Given the description of an element on the screen output the (x, y) to click on. 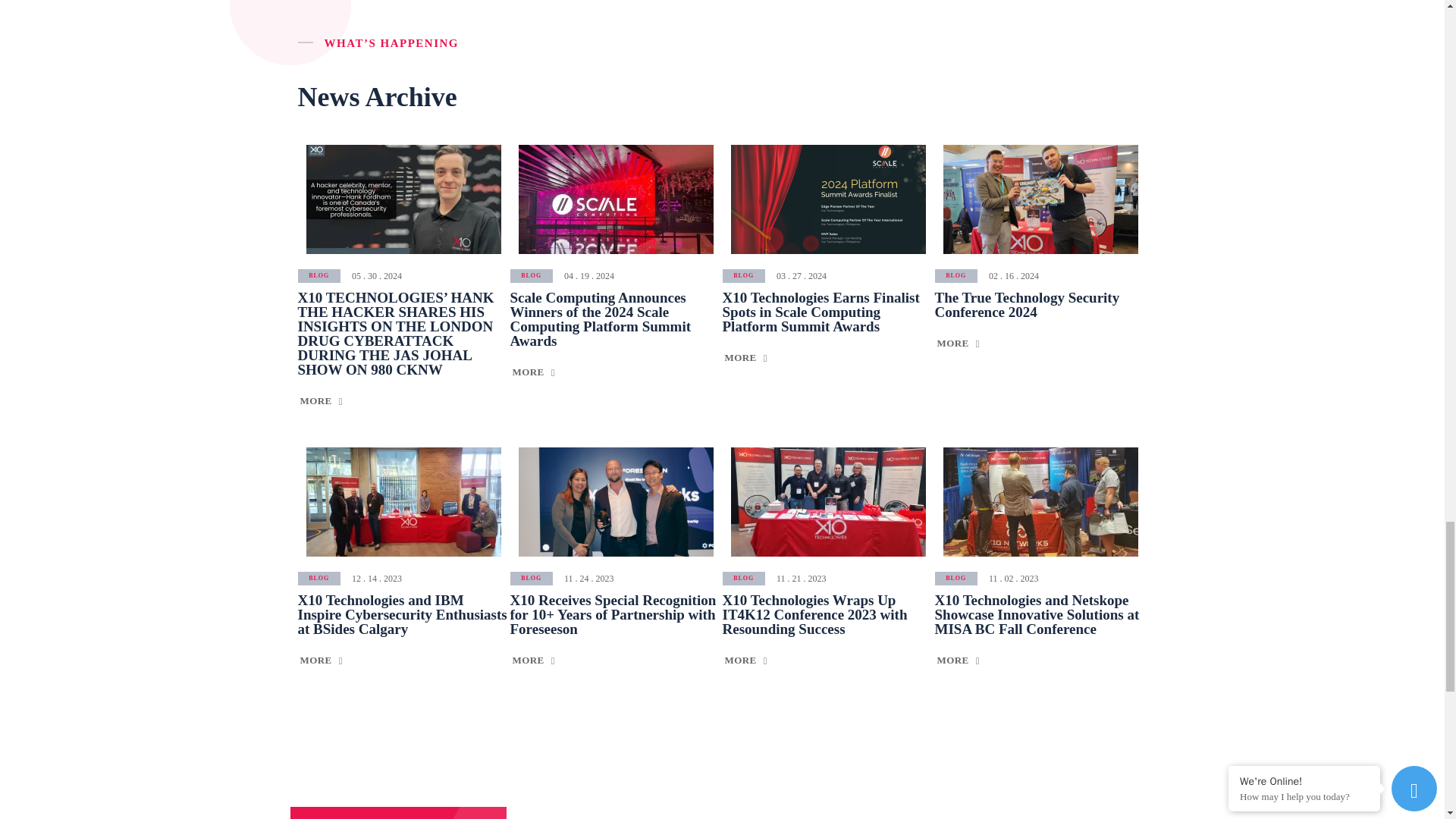
9370201e-45e2-4627-828b-ee57df3ca8d7 (615, 198)
MISA BC Fall Conference (1040, 501)
IT4K12 Conference 2023 (828, 501)
9088FFFA-20A5-4B79-886C-D40A7C0CC1B3 (615, 501)
